Given the description of an element on the screen output the (x, y) to click on. 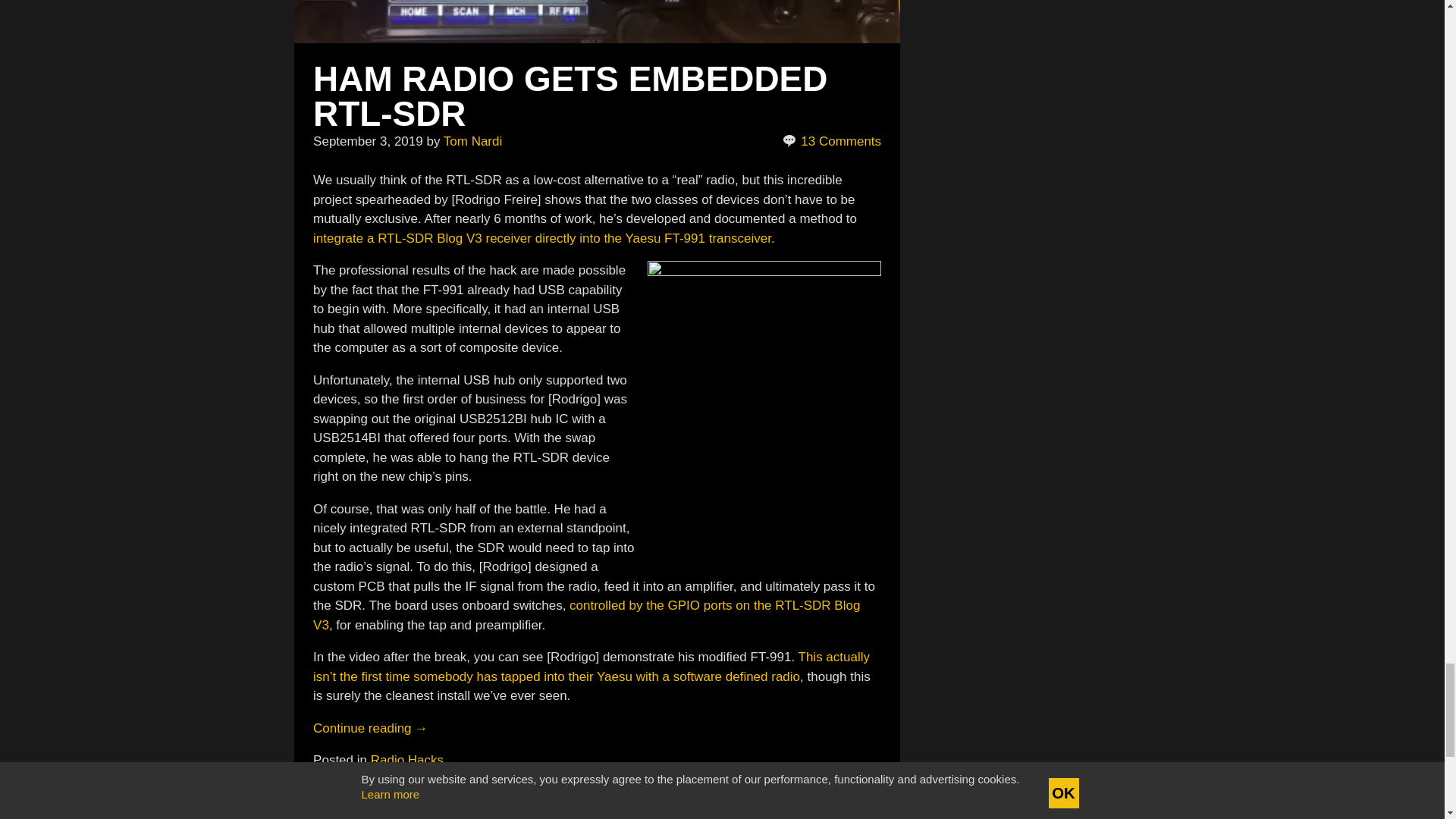
September 3, 2019 - 1:00 am (368, 141)
Posts by Tom Nardi (473, 141)
